Given the description of an element on the screen output the (x, y) to click on. 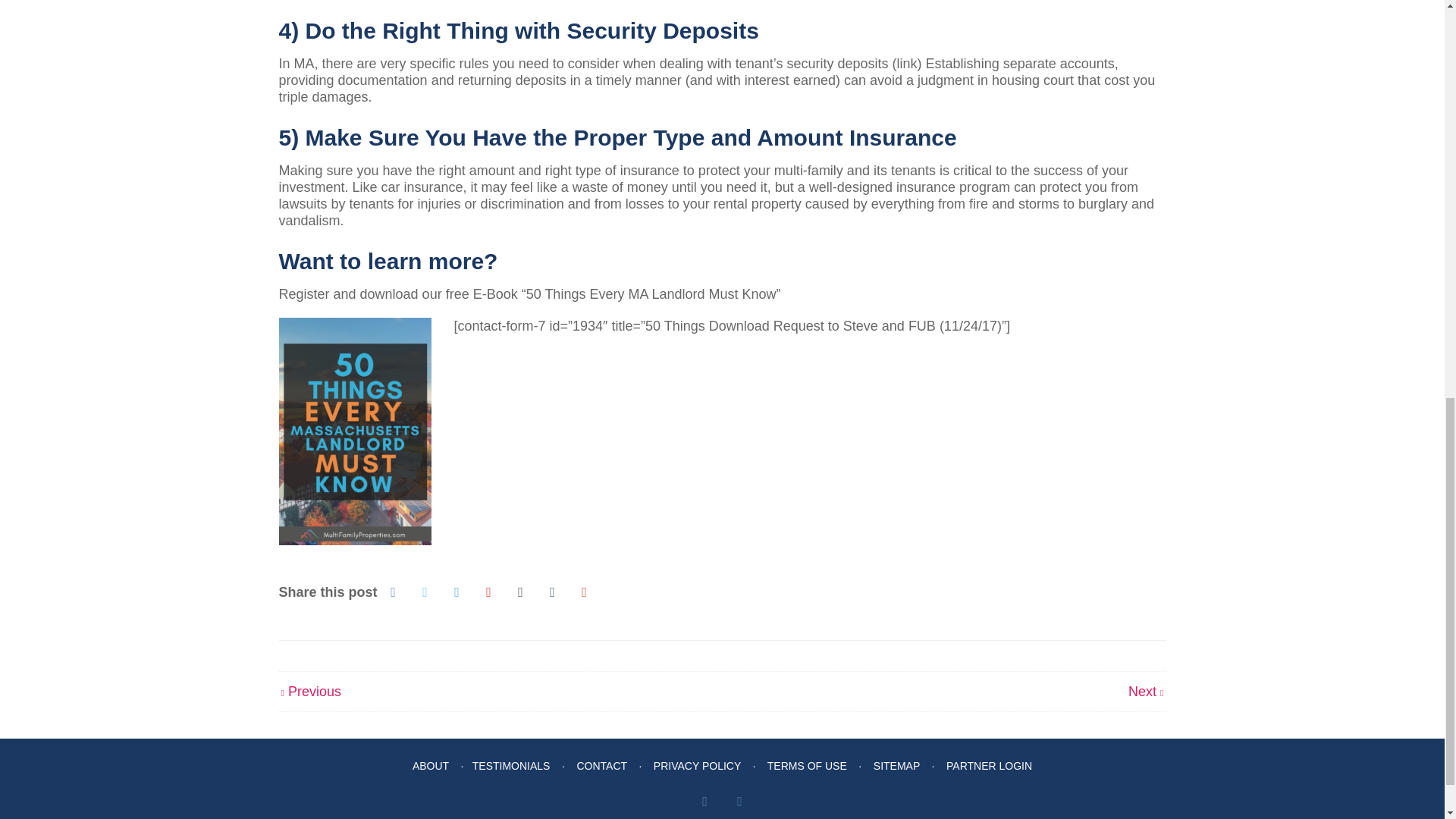
CONTACT (601, 766)
TESTIMONIALS (510, 766)
PRIVACY POLICY (697, 766)
ABOUT (430, 766)
